Given the description of an element on the screen output the (x, y) to click on. 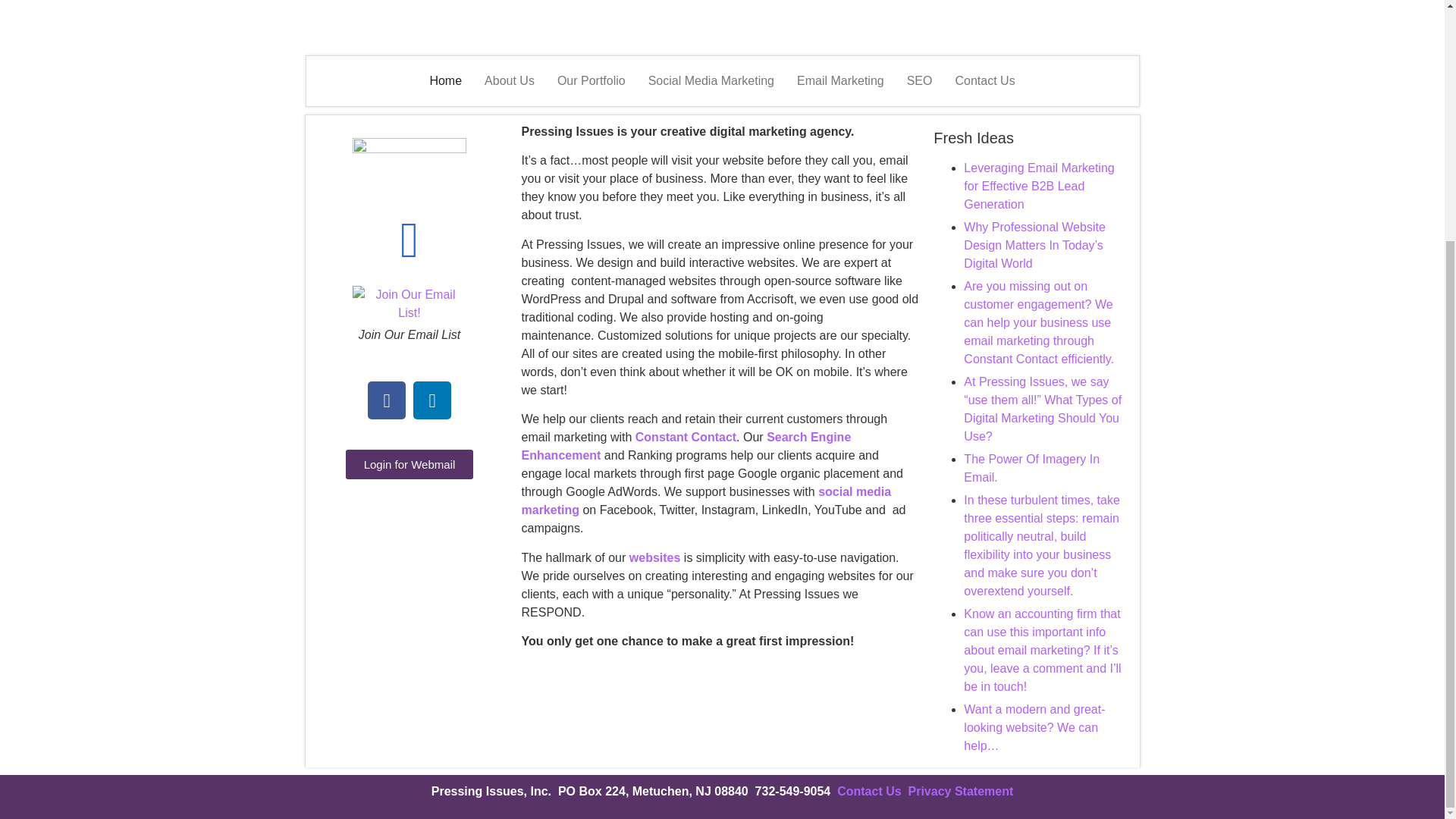
Contact Us (984, 80)
Contact Us (872, 790)
Our Portfolio (591, 80)
The Power Of Imagery In Email. (1031, 468)
Constant Contact (685, 436)
Login for Webmail (410, 464)
Social Media Marketing (711, 80)
SEO (919, 80)
social media marketing (706, 500)
Privacy Statement (960, 790)
About Us (509, 80)
Home (445, 80)
Search Engine Enhancement (686, 445)
websites (654, 557)
Email Marketing (840, 80)
